Given the description of an element on the screen output the (x, y) to click on. 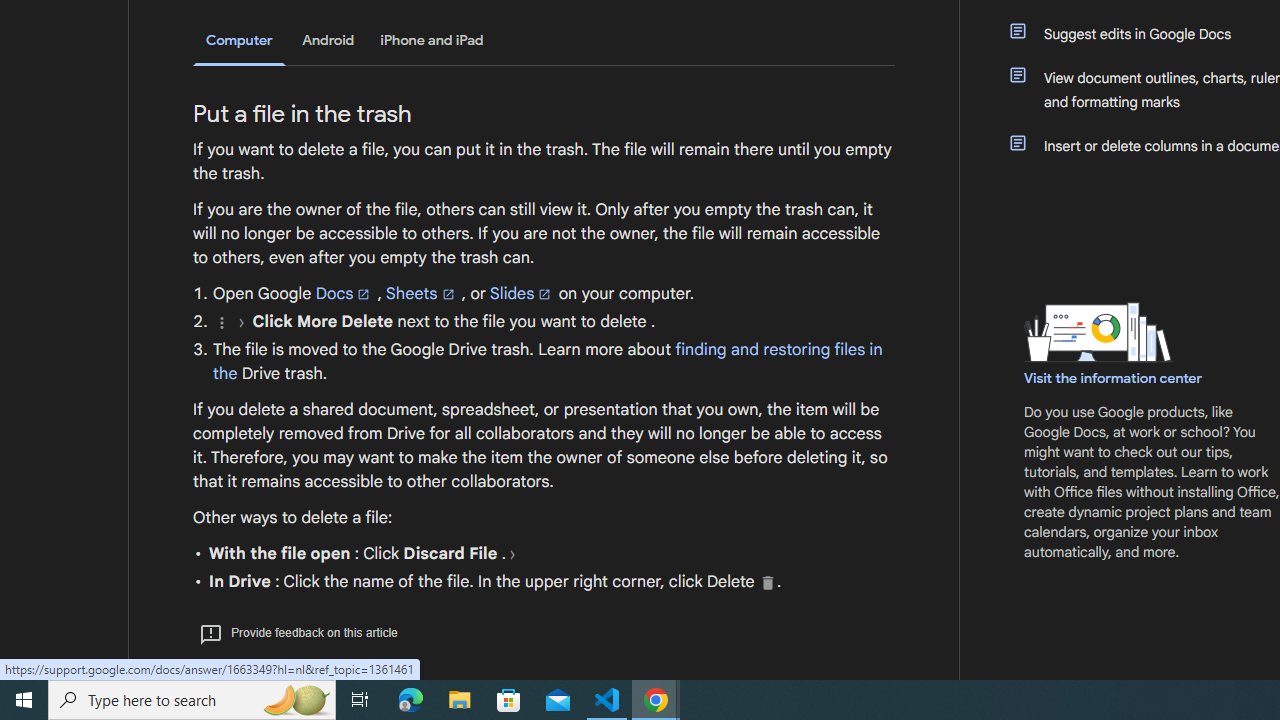
Visit the information center (1113, 378)
More (221, 322)
To delete (768, 582)
Android (328, 40)
Slides (521, 293)
Provide feedback on this article (298, 632)
finding and restoring files in the (547, 361)
and then (511, 554)
Computer (239, 41)
Docs (343, 293)
iPhone and iPad (431, 40)
Sheets (421, 293)
